Given the description of an element on the screen output the (x, y) to click on. 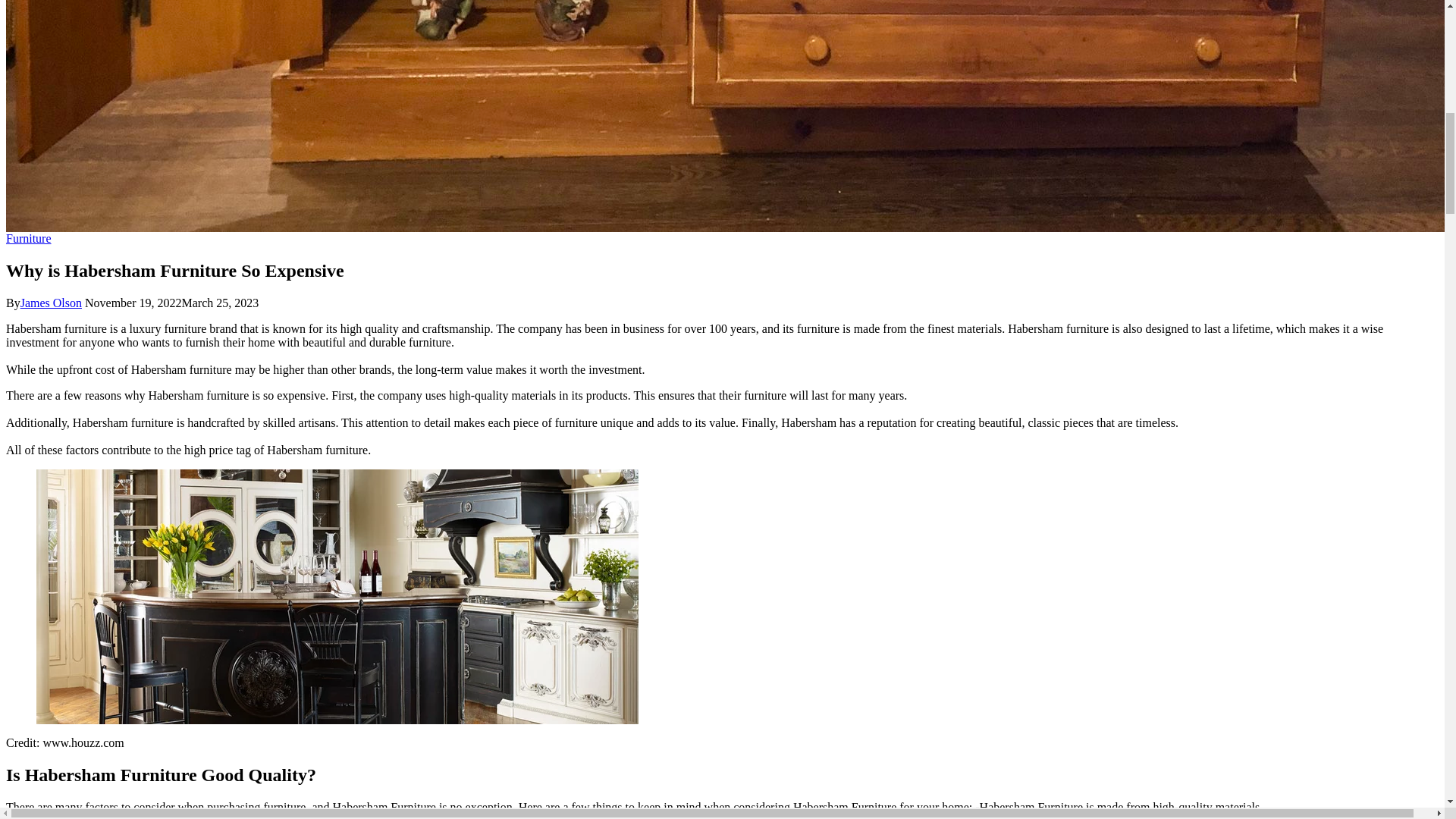
James Olson (50, 302)
Furniture (27, 237)
